Given the description of an element on the screen output the (x, y) to click on. 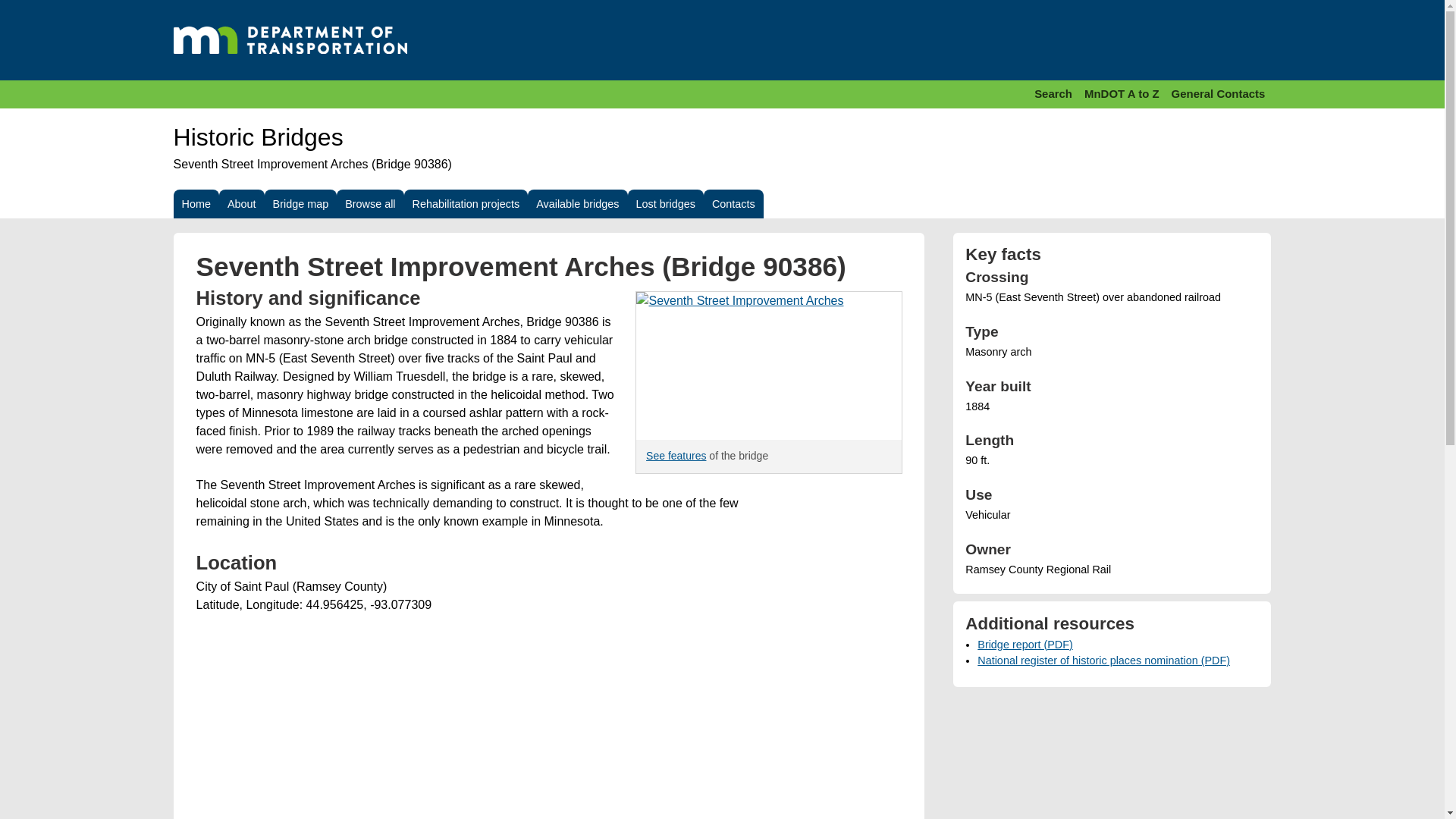
Rehabilitation projects (466, 203)
General Contacts (1218, 94)
Lost bridges (665, 203)
MnDOT A to Z (1122, 94)
Browse all (369, 203)
Bridge map (300, 203)
Search (1052, 94)
Available bridges (577, 203)
Bridge location (423, 725)
See features (676, 455)
